Given the description of an element on the screen output the (x, y) to click on. 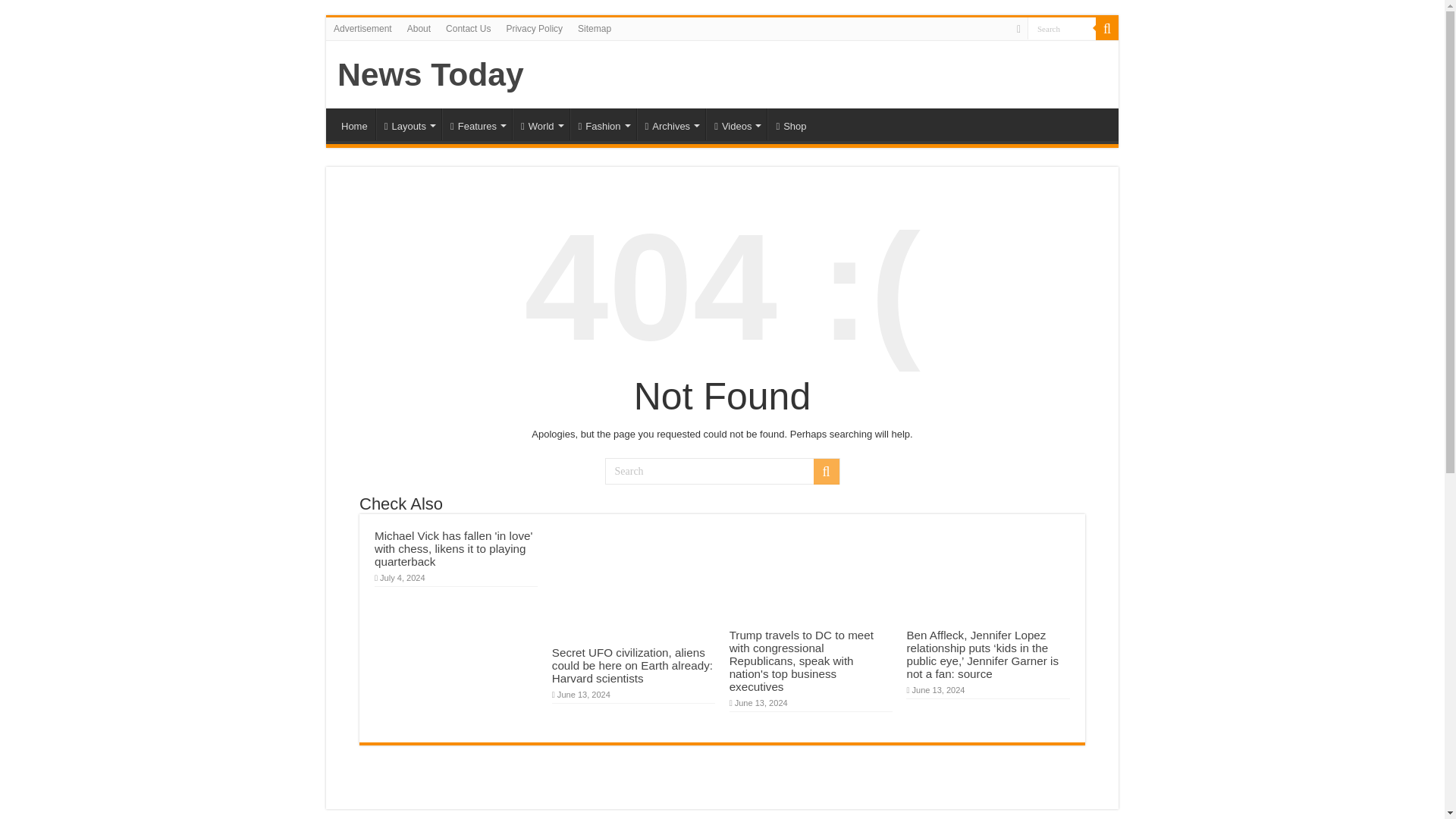
Privacy Policy (533, 28)
Search (1061, 28)
Search (1061, 28)
Features (477, 124)
Search (1061, 28)
Search (1107, 28)
Layouts (408, 124)
News Today (430, 74)
Sitemap (594, 28)
Home (354, 124)
Contact Us (467, 28)
Rss (1018, 29)
Advertisement (362, 28)
Search (722, 470)
